Given the description of an element on the screen output the (x, y) to click on. 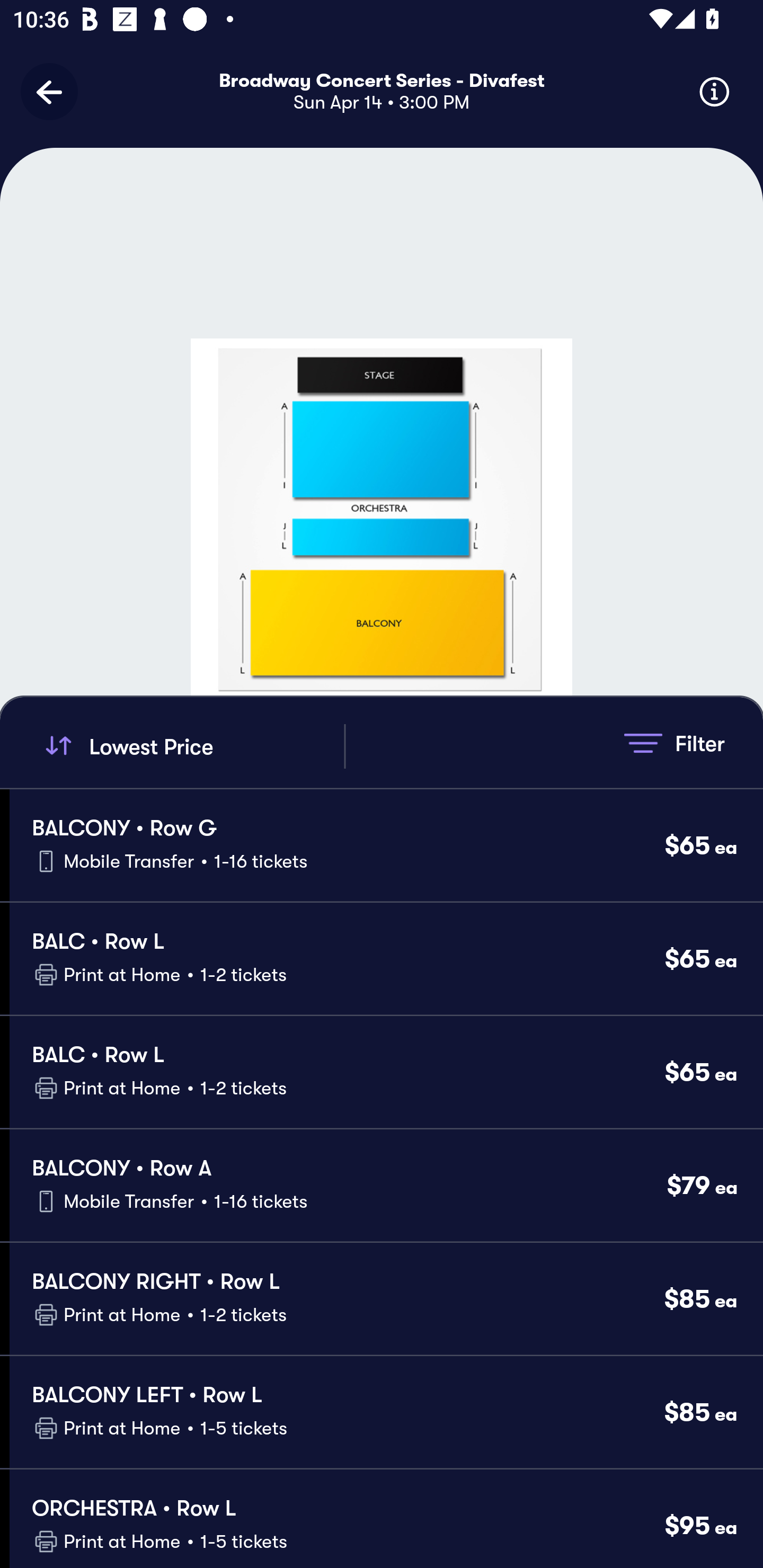
Lowest Price (191, 746)
Filter (674, 743)
BALC • Row L Print at Home • 1-2 tickets $65 ea (386, 958)
BALC • Row L Print at Home • 1-2 tickets $65 ea (386, 1071)
